Given the description of an element on the screen output the (x, y) to click on. 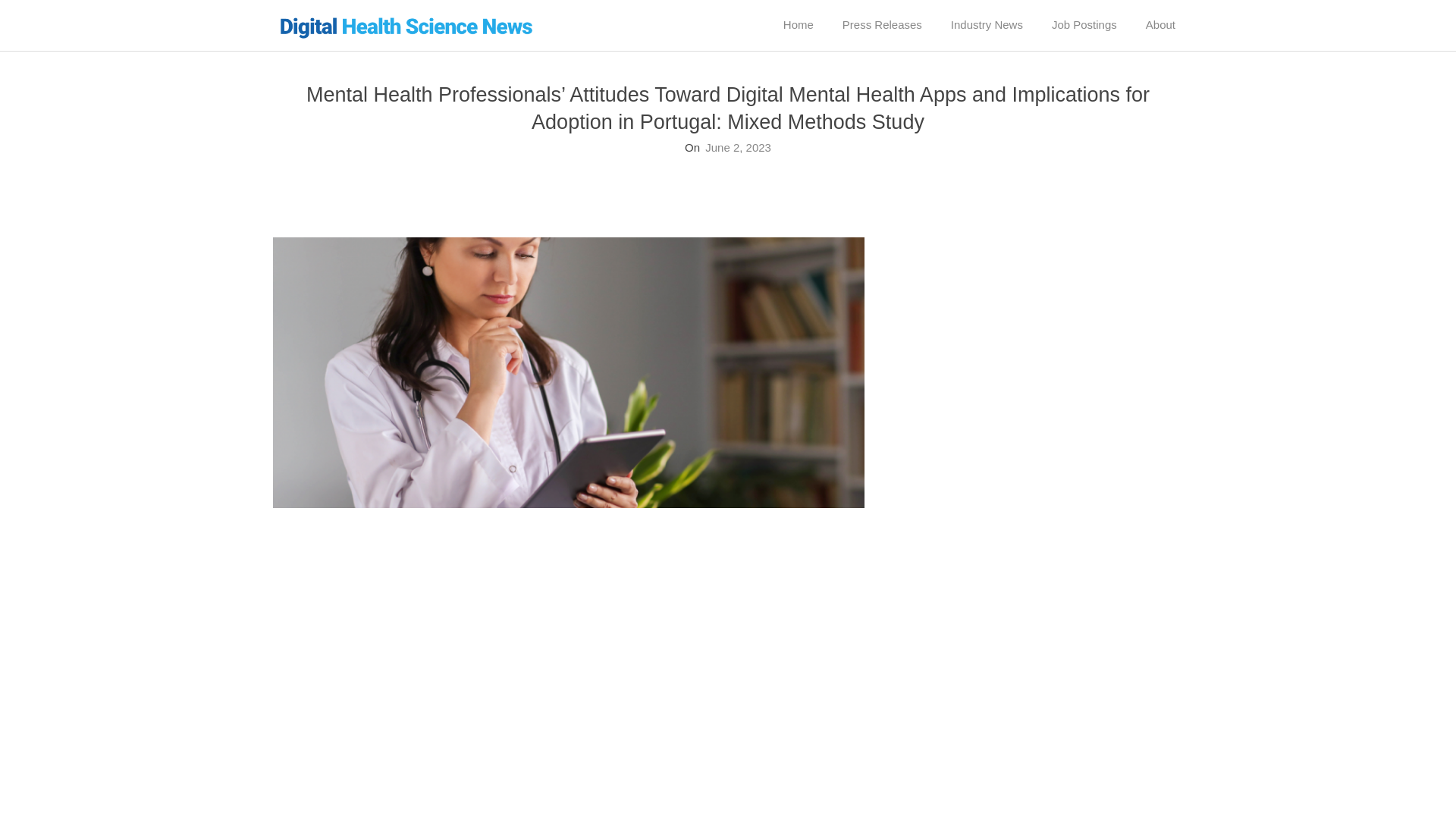
About (1160, 24)
Press Releases (882, 24)
Home (798, 24)
Job Postings (1083, 24)
Industry News (986, 24)
Friday, June 2, 2023, 11:37 am (737, 146)
